Given the description of an element on the screen output the (x, y) to click on. 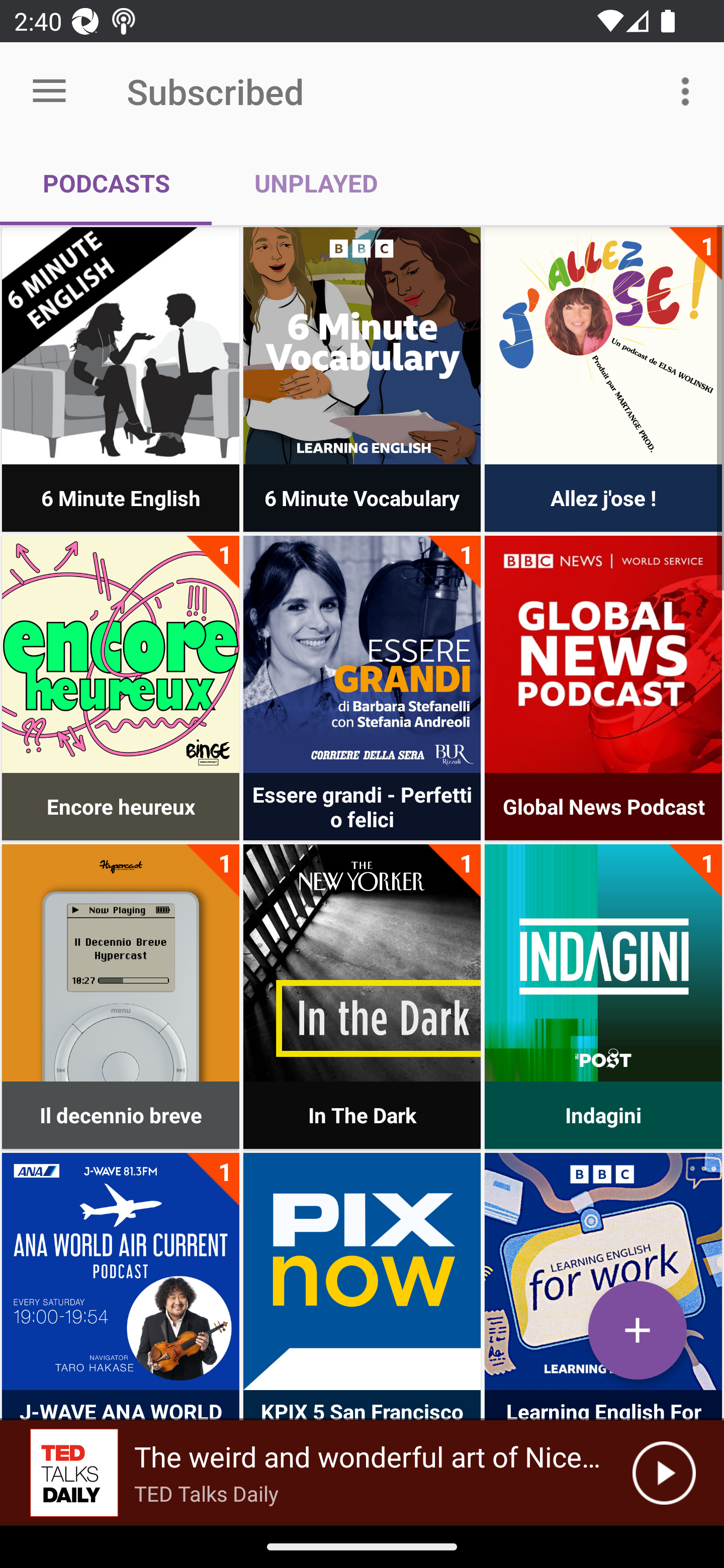
Open menu (49, 91)
More options (688, 90)
PODCASTS (105, 183)
UNPLAYED (315, 183)
6 Minute English (120, 345)
6 Minute Vocabulary (361, 345)
Allez j'ose ! (602, 345)
Encore heureux (120, 654)
Essere grandi - Perfetti o felici (361, 654)
Global News Podcast (602, 654)
Il decennio breve (120, 962)
In The Dark (361, 962)
Indagini (602, 962)
J-WAVE ANA WORLD AIR CURRENT Podcast (120, 1271)
KPIX 5 San Francisco Bay Area (361, 1271)
Learning English For Work (602, 1271)
Play (663, 1472)
